Given the description of an element on the screen output the (x, y) to click on. 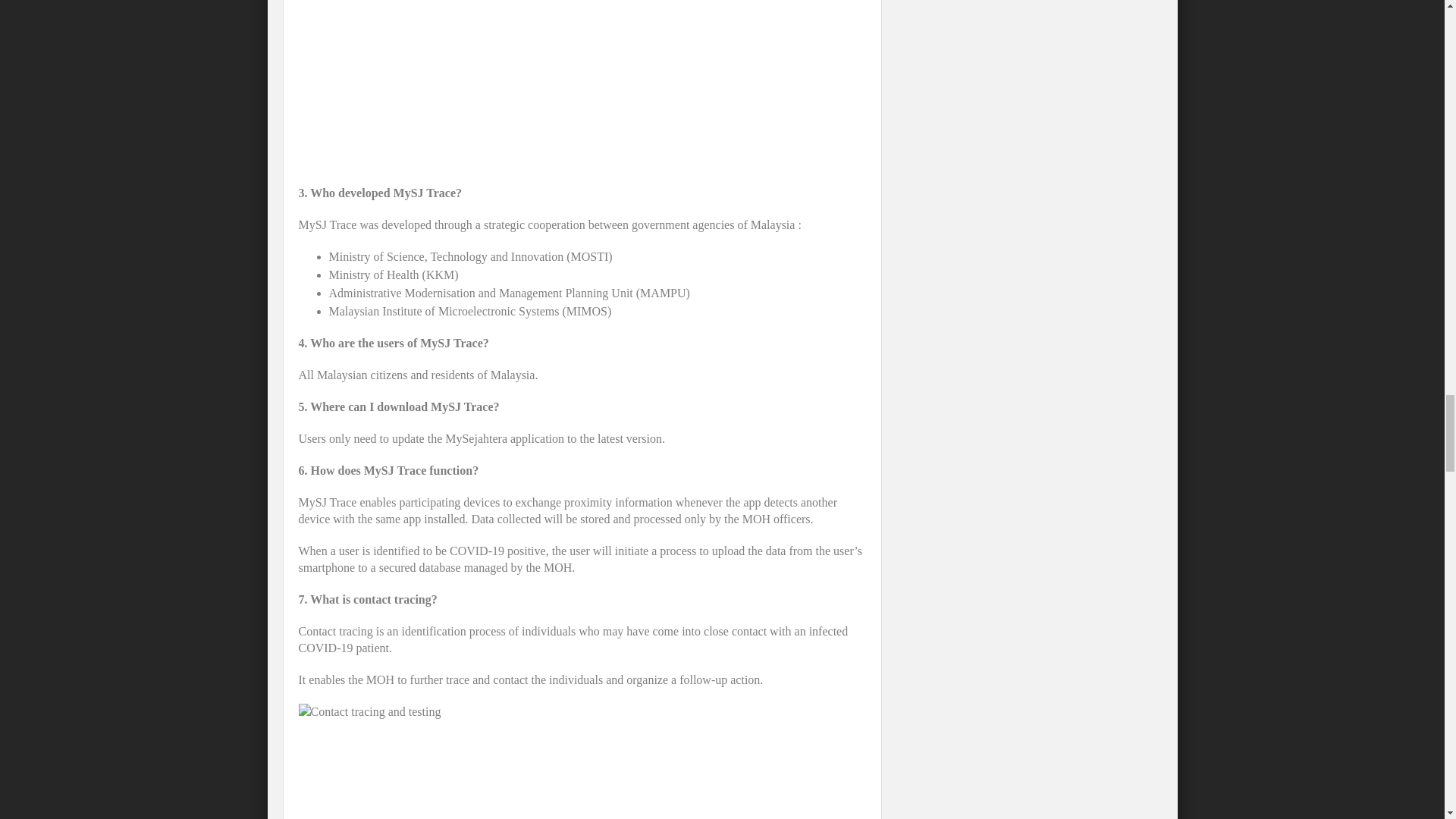
Page 4 (582, 535)
Page 5 (582, 721)
